Given the description of an element on the screen output the (x, y) to click on. 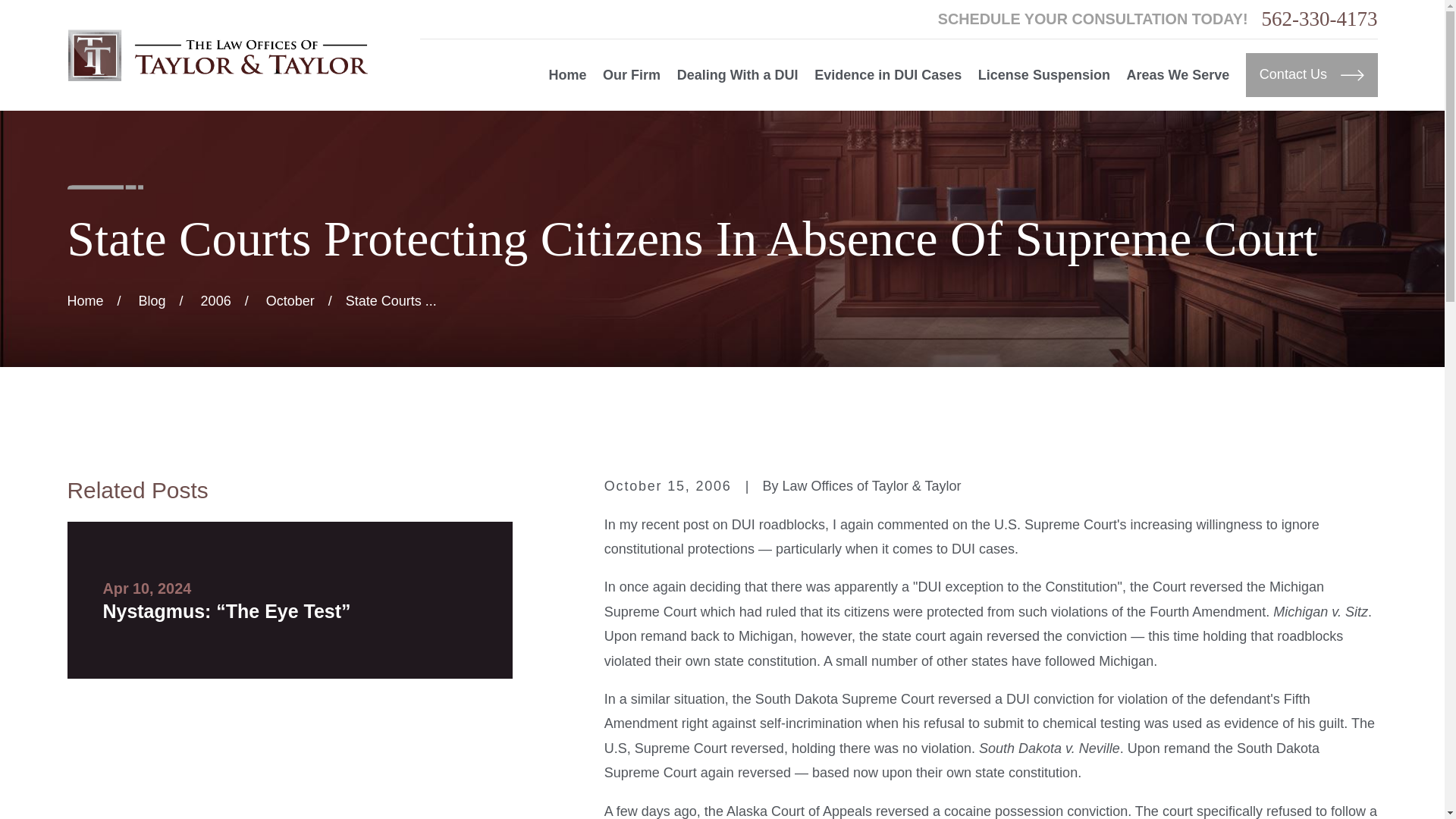
Home (217, 55)
Go Home (84, 300)
562-330-4173 (1319, 19)
Our Firm (631, 75)
Dealing With a DUI (737, 75)
Evidence in DUI Cases (886, 75)
